Given the description of an element on the screen output the (x, y) to click on. 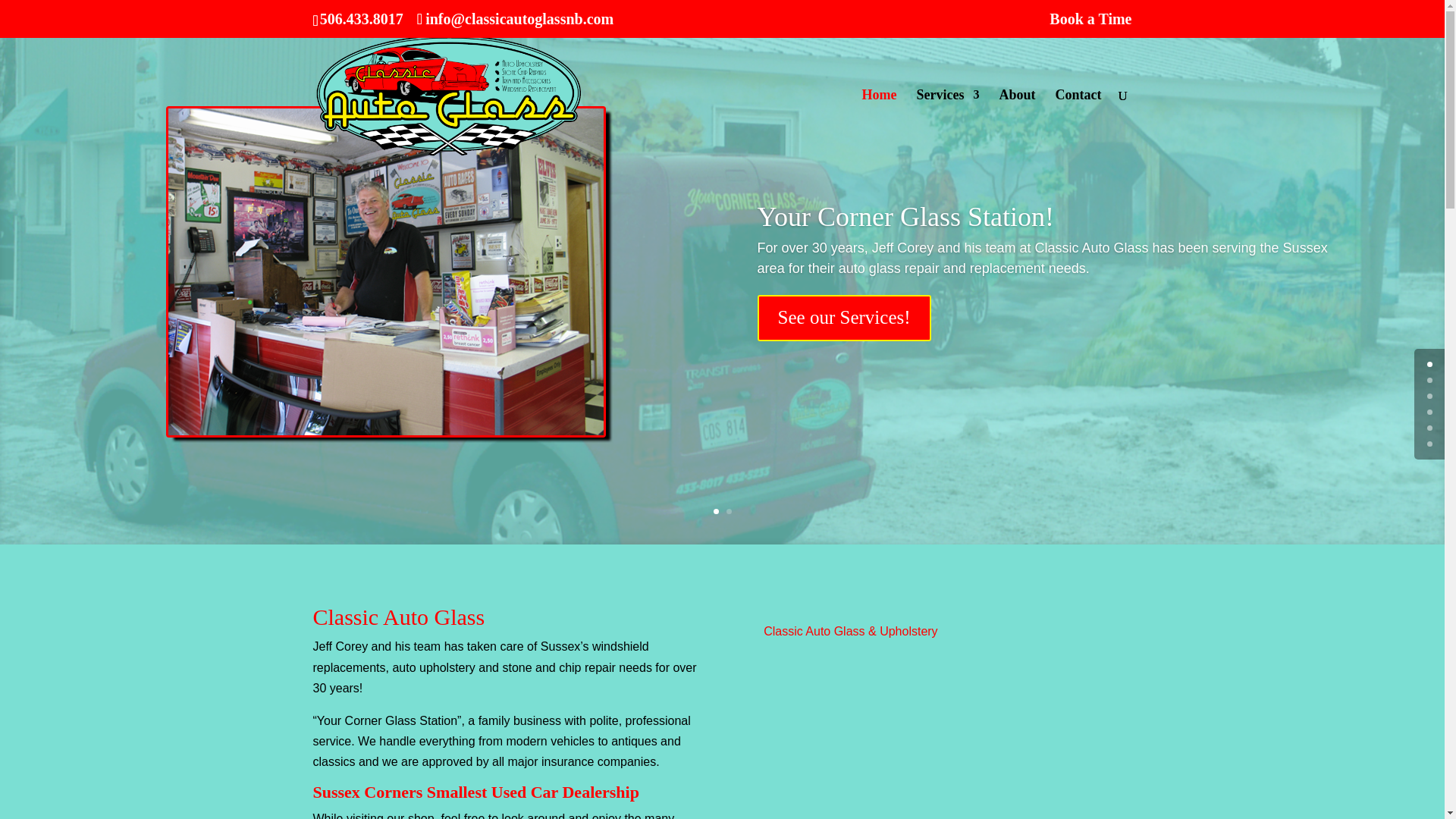
Your Corner Glass Station! (905, 271)
2 (729, 511)
See our Services! (844, 371)
Book a Time (1090, 24)
